Given the description of an element on the screen output the (x, y) to click on. 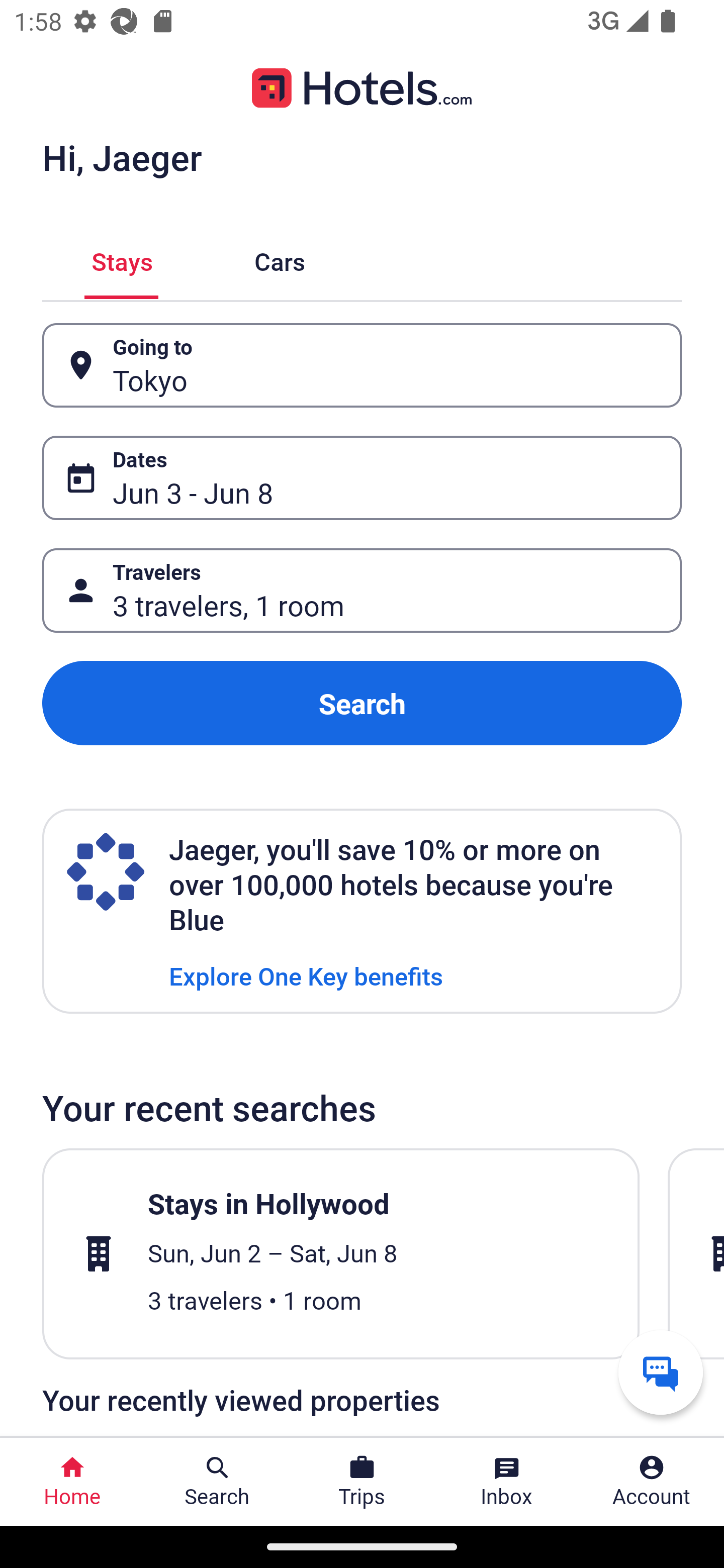
Hi, Jaeger (121, 156)
Cars (279, 259)
Going to Button Tokyo (361, 365)
Dates Button Jun 3 - Jun 8 (361, 477)
Travelers Button 3 travelers, 1 room (361, 590)
Search (361, 702)
Get help from a virtual agent (660, 1371)
Search Search Button (216, 1481)
Trips Trips Button (361, 1481)
Inbox Inbox Button (506, 1481)
Account Profile. Button (651, 1481)
